Given the description of an element on the screen output the (x, y) to click on. 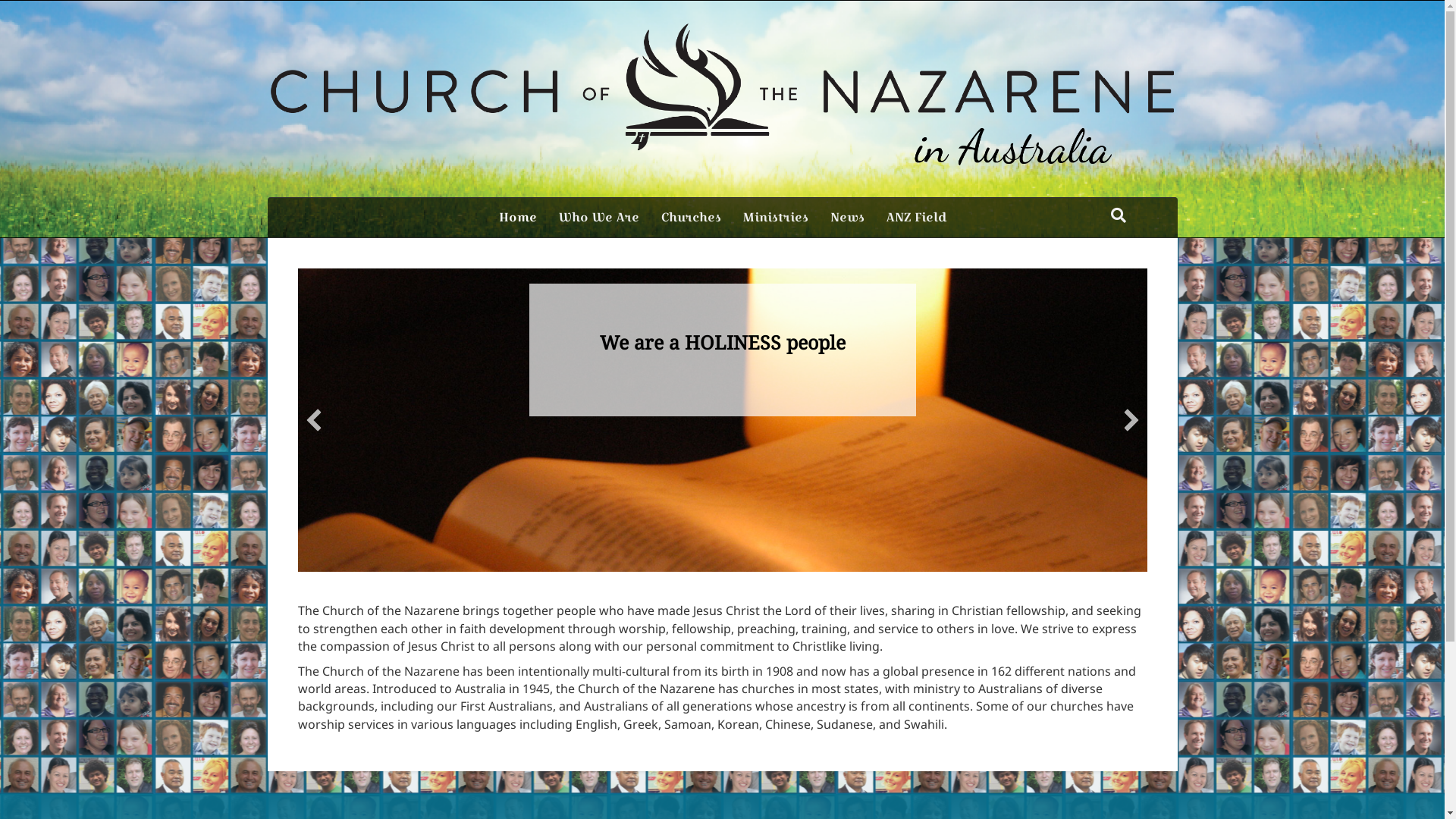
ANZ Field Element type: text (915, 217)
Ministries Element type: text (775, 217)
Home Element type: text (517, 217)
News Element type: text (846, 217)
Churches Element type: text (691, 217)
Who We Are Element type: text (598, 217)
